Given the description of an element on the screen output the (x, y) to click on. 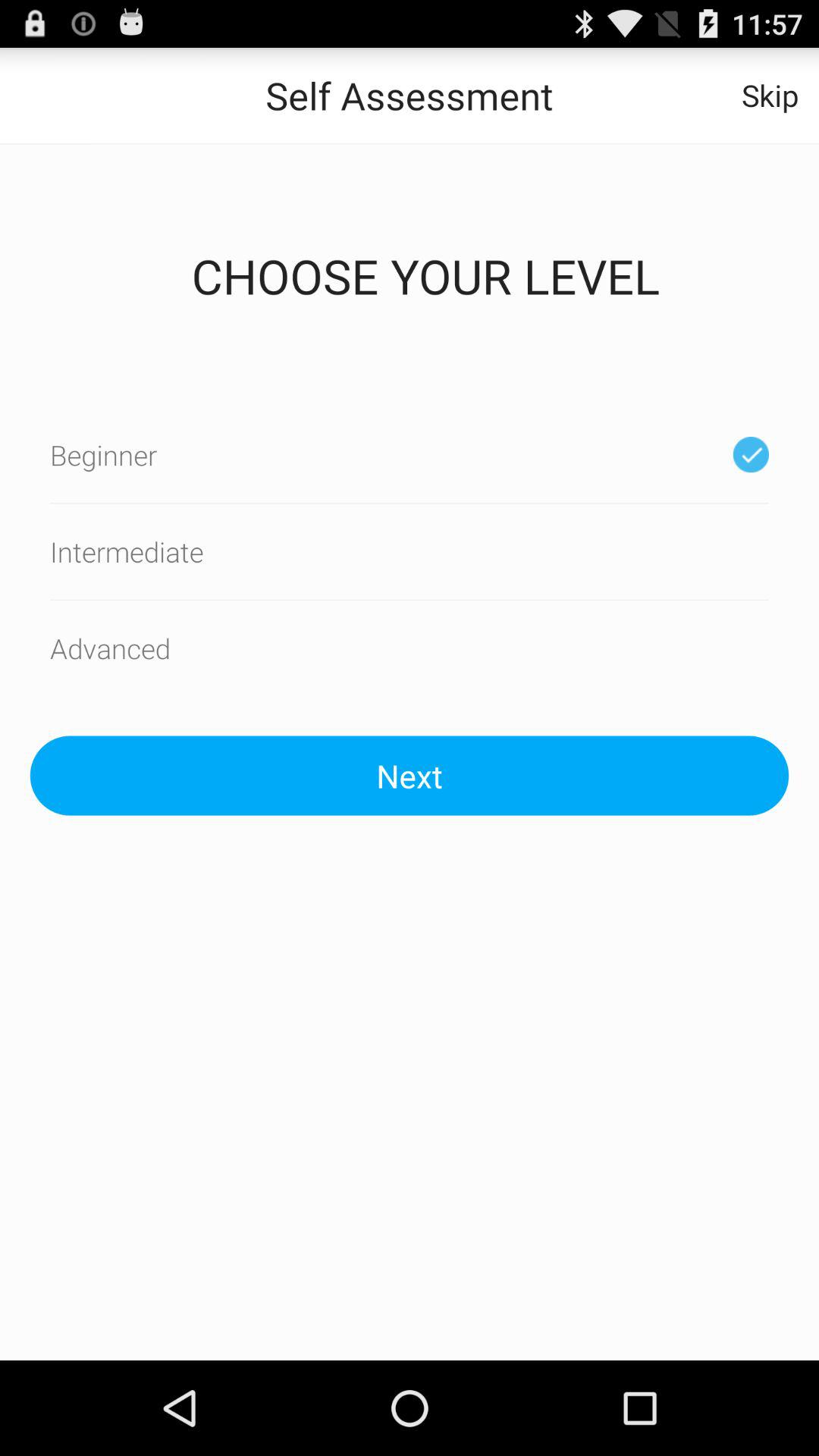
click item next to the self assessment icon (770, 95)
